Given the description of an element on the screen output the (x, y) to click on. 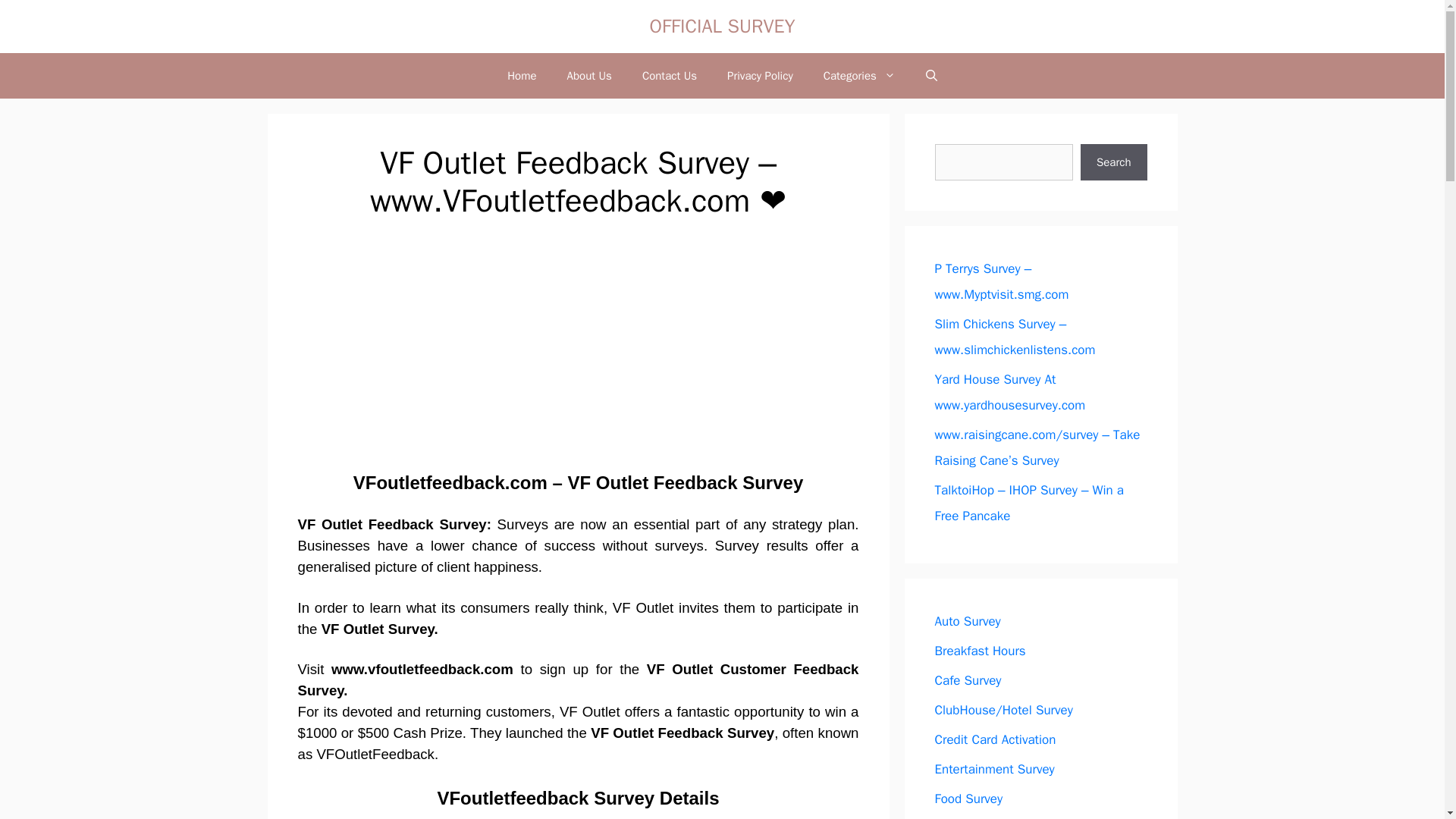
Categories (859, 75)
OFFICIAL SURVEY (721, 25)
About Us (589, 75)
Contact Us (669, 75)
Search (1113, 162)
Yard House Survey At www.yardhousesurvey.com (1009, 392)
Privacy Policy (759, 75)
Home (521, 75)
